Given the description of an element on the screen output the (x, y) to click on. 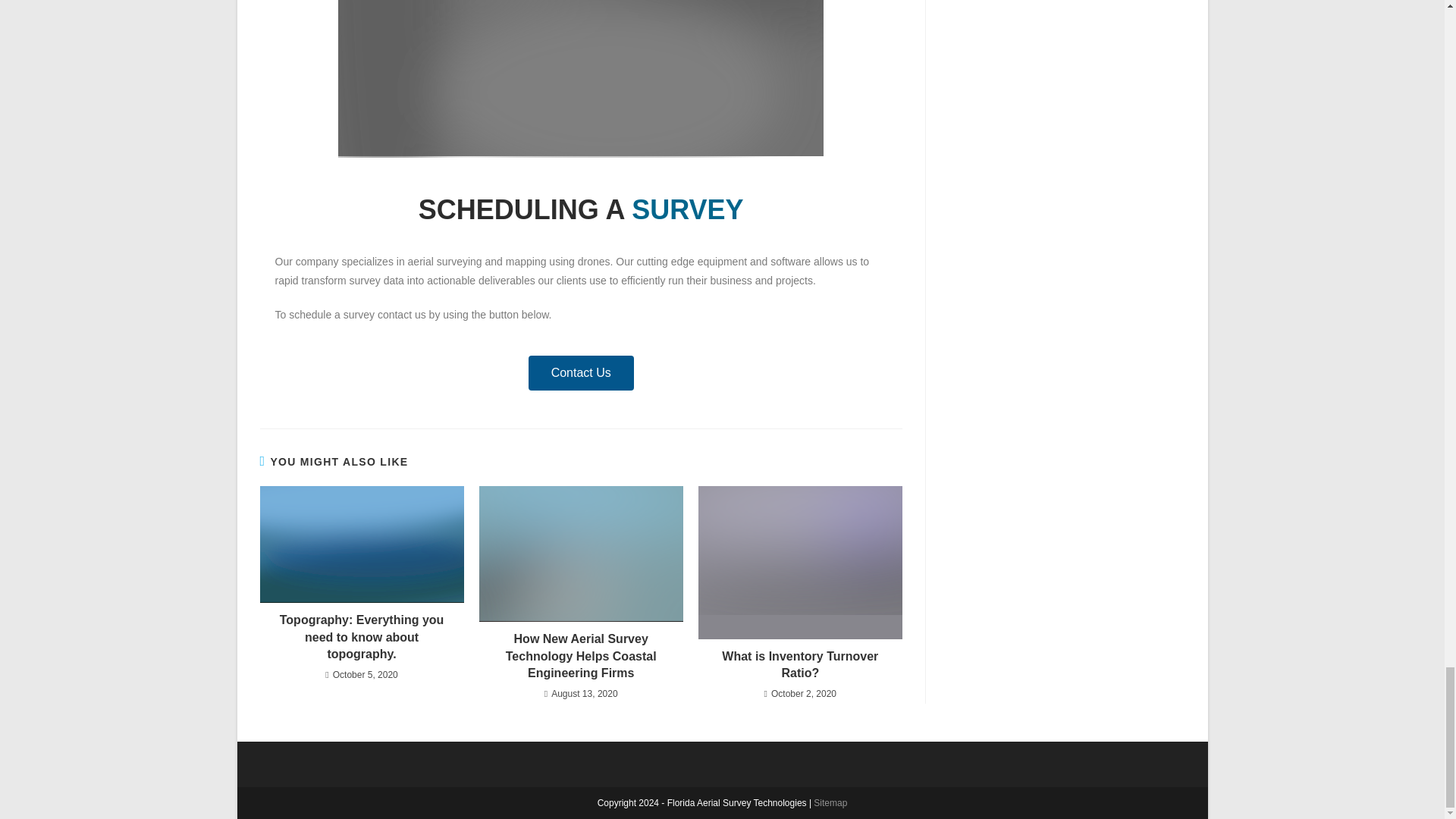
Sitemap (830, 802)
